Given the description of an element on the screen output the (x, y) to click on. 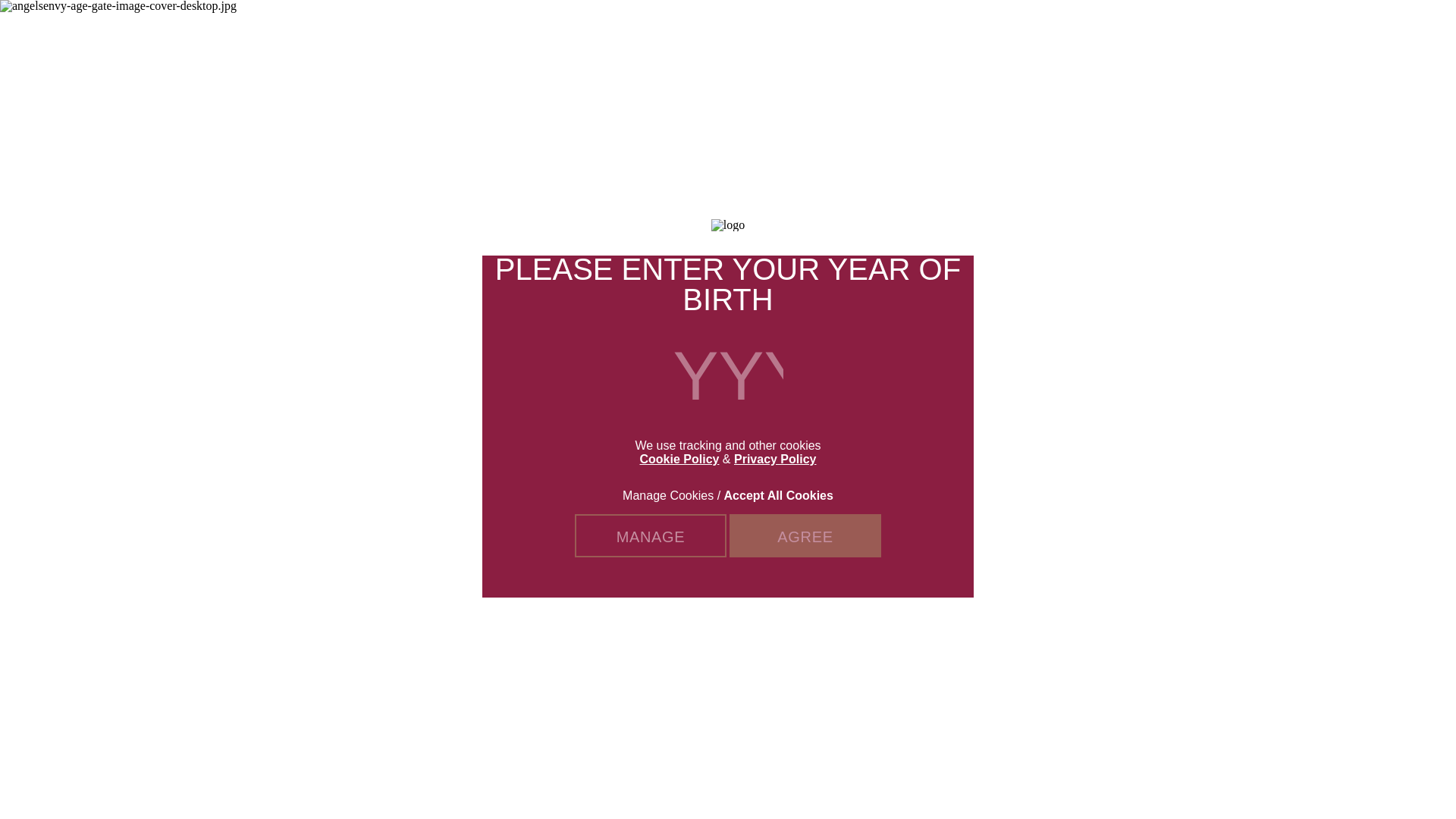
MANAGE BOOKING (1109, 29)
Cookies Settings (33, 792)
GIFT CARD (1022, 29)
OUR DISTILLERY (685, 29)
OUR STORY (781, 29)
OUR WHISKEY (583, 29)
SHOP (966, 29)
500 MAIN (1211, 29)
VISIT US (1308, 29)
THE GUIDE (910, 29)
RECIPES (848, 29)
